Given the description of an element on the screen output the (x, y) to click on. 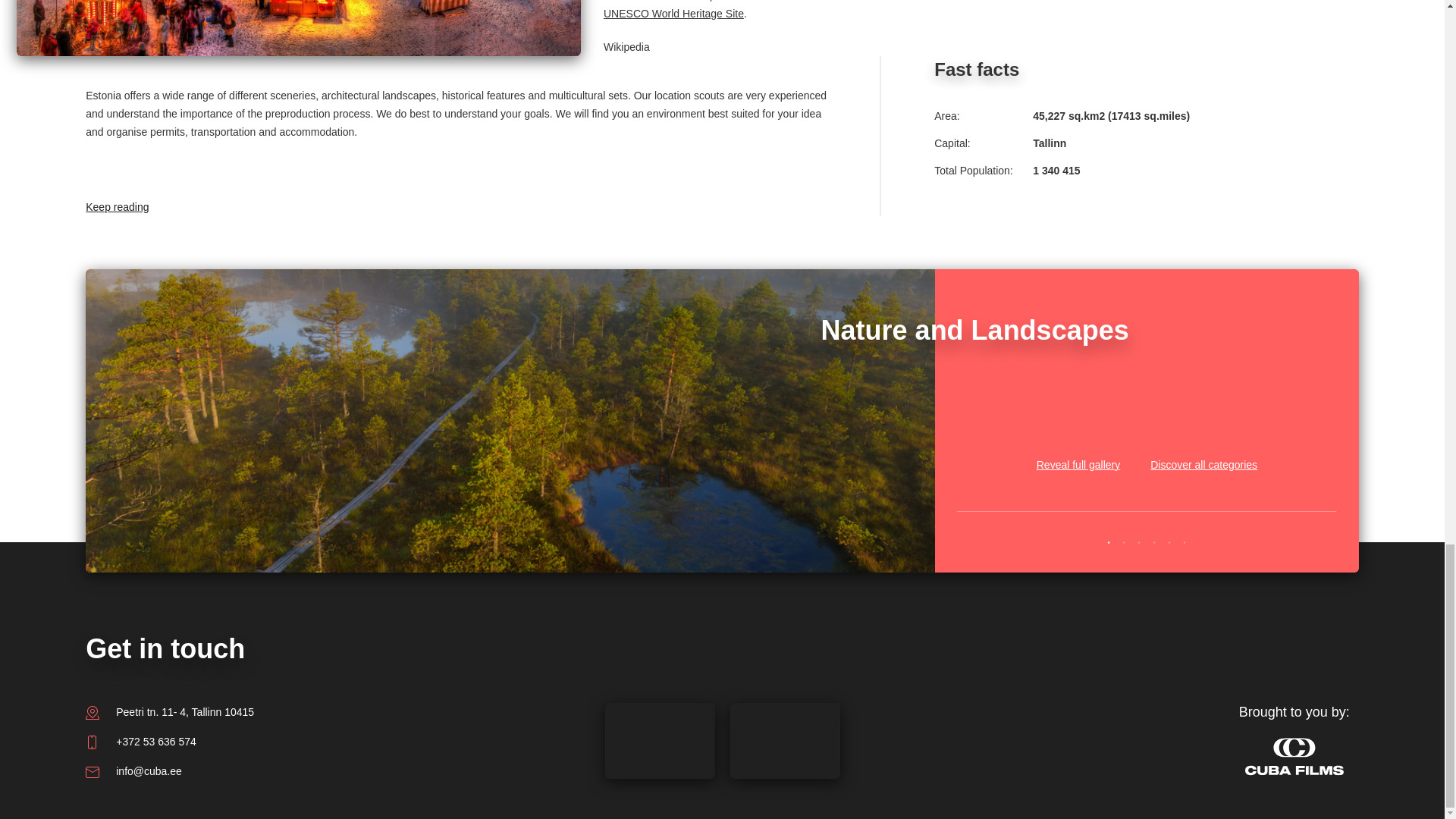
UNESCO World Heritage Site (674, 13)
Keep reading (176, 178)
Reveal full gallery (1078, 445)
Discover all categories (1203, 445)
